Given the description of an element on the screen output the (x, y) to click on. 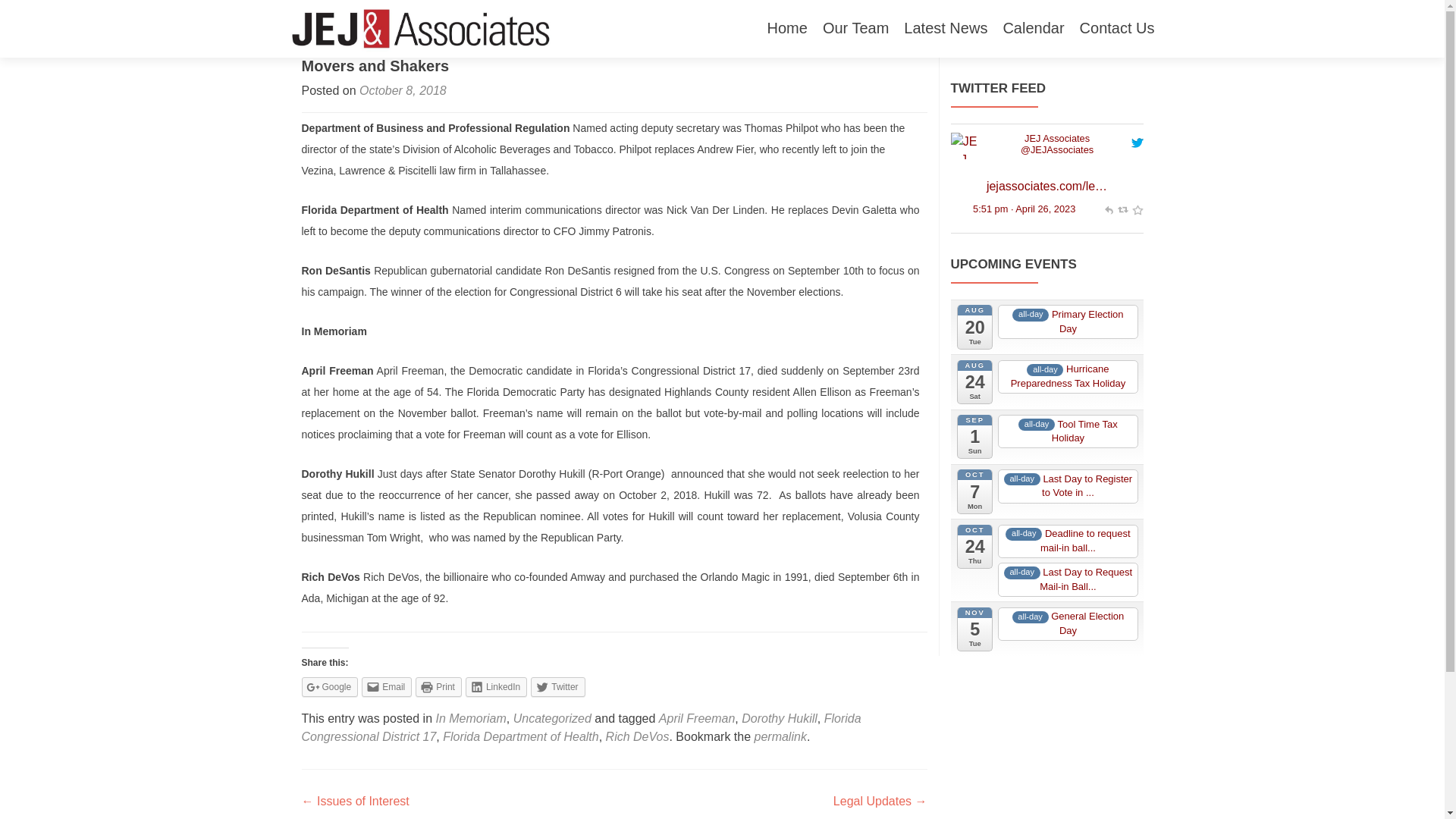
Rich DeVos (637, 736)
Uncategorized (552, 717)
Home (787, 28)
Florida Congressional District 17 (581, 726)
October 8, 2018 (402, 90)
Email (386, 686)
Click to print (437, 686)
JEJ Associates (1057, 138)
reply (1107, 208)
Click to share on LinkedIn (496, 686)
